Given the description of an element on the screen output the (x, y) to click on. 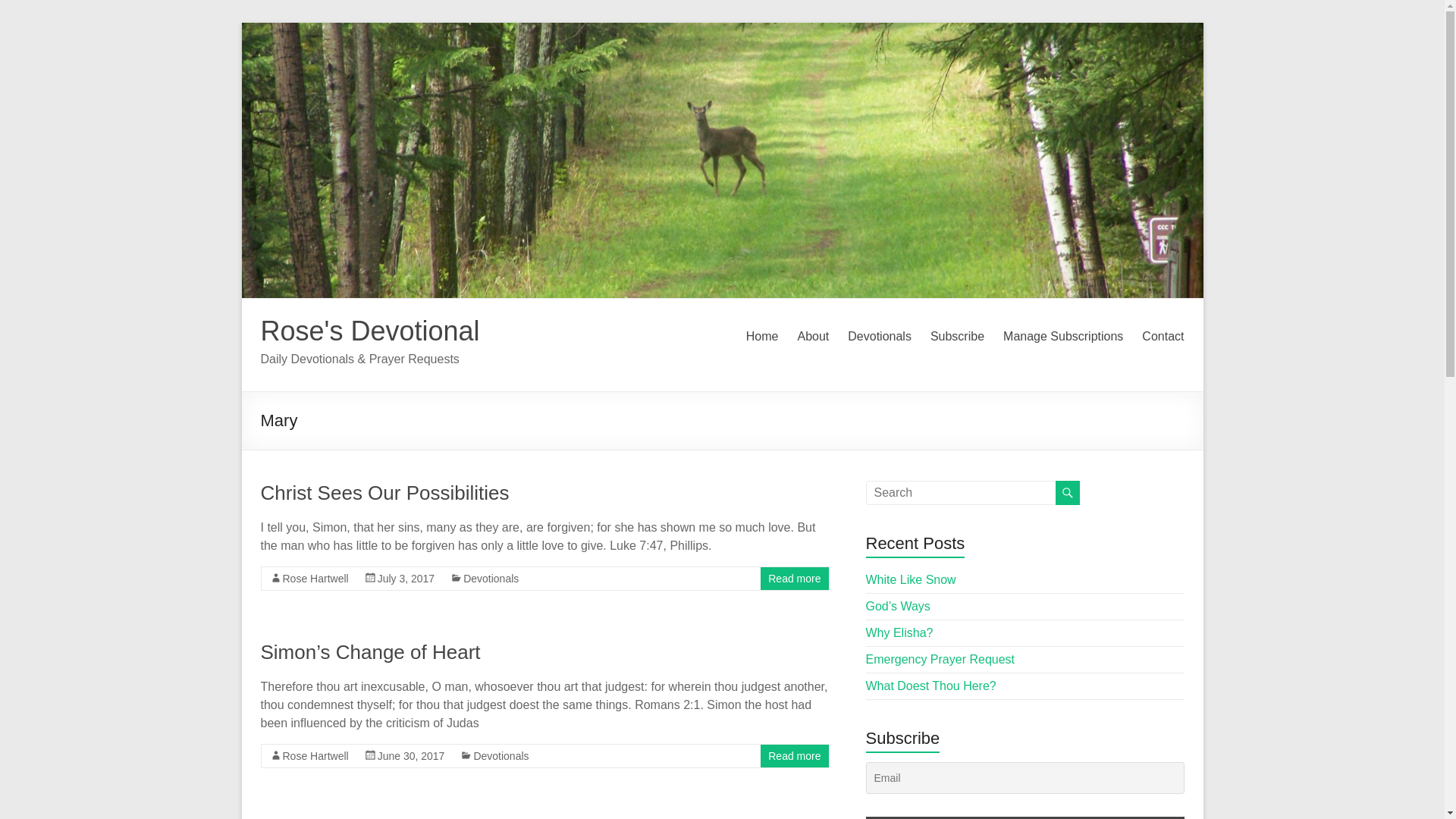
July 3, 2017 (406, 578)
Rose's Devotional (370, 330)
About (812, 336)
Christ Sees Our Possibilities (384, 492)
9:40 am (411, 756)
Rose's Devotional (370, 330)
Devotionals (490, 578)
Devotionals (879, 336)
June 30, 2017 (411, 756)
